Given the description of an element on the screen output the (x, y) to click on. 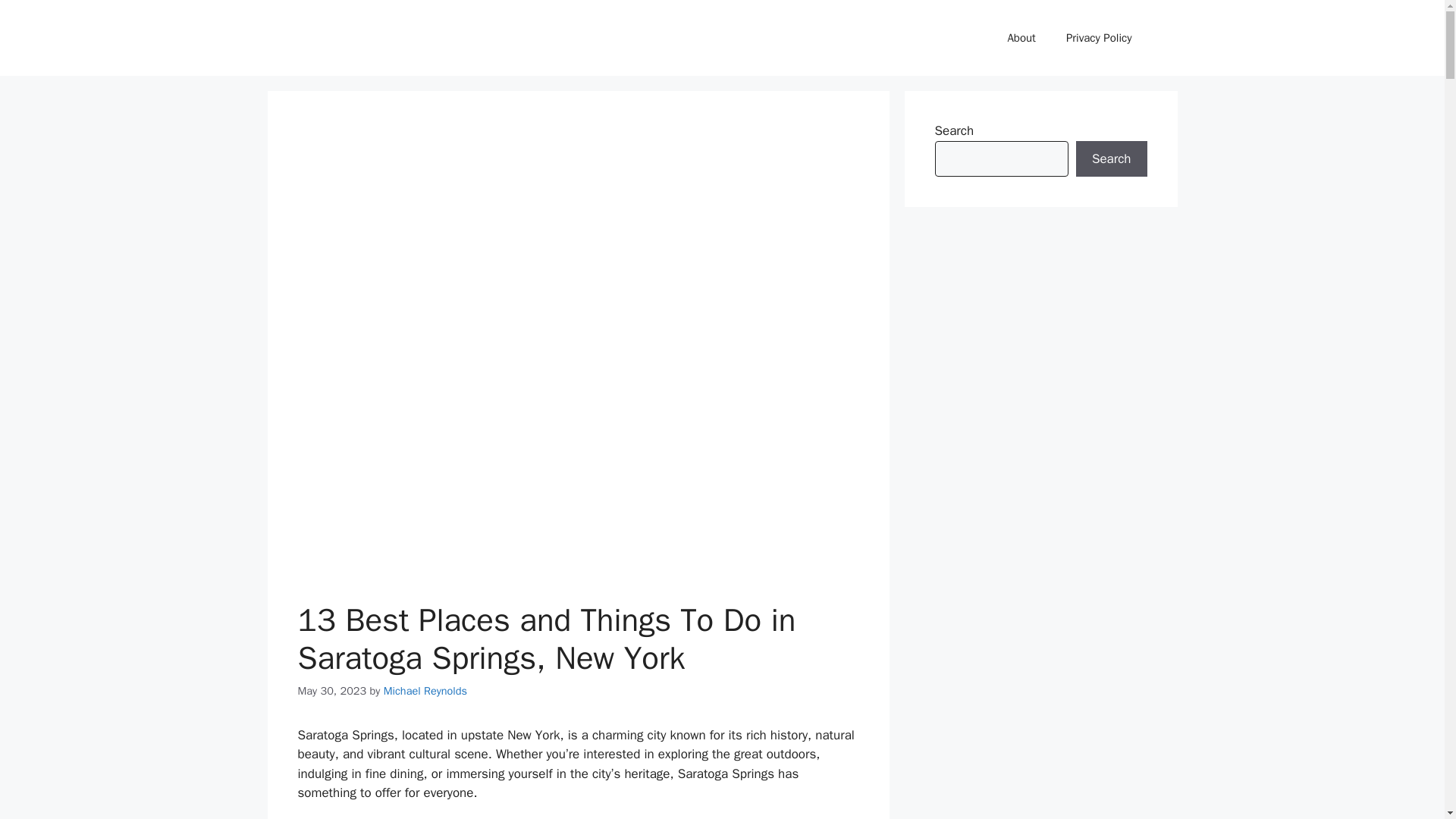
View all posts by Michael Reynolds (425, 690)
About (1020, 37)
Michael Reynolds (425, 690)
Privacy Policy (1099, 37)
